Given the description of an element on the screen output the (x, y) to click on. 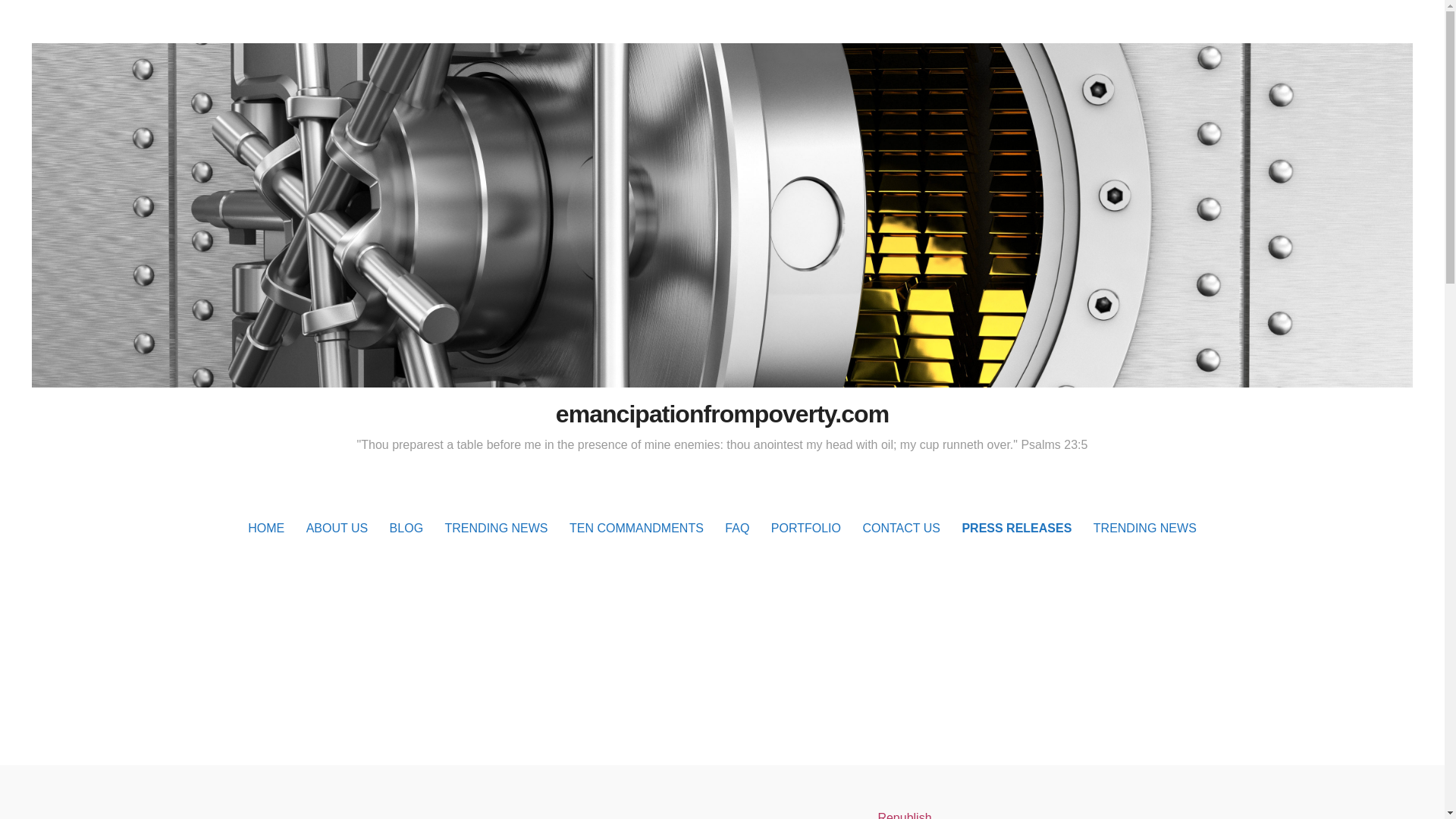
CONTACT US (901, 528)
TRENDING NEWS (496, 528)
emancipationfrompoverty.com (722, 413)
PORTFOLIO (805, 528)
TRENDING NEWS (1144, 528)
TEN COMMANDMENTS (636, 528)
PRESS RELEASES (1016, 528)
ABOUT US (904, 815)
HOME (337, 528)
